Given the description of an element on the screen output the (x, y) to click on. 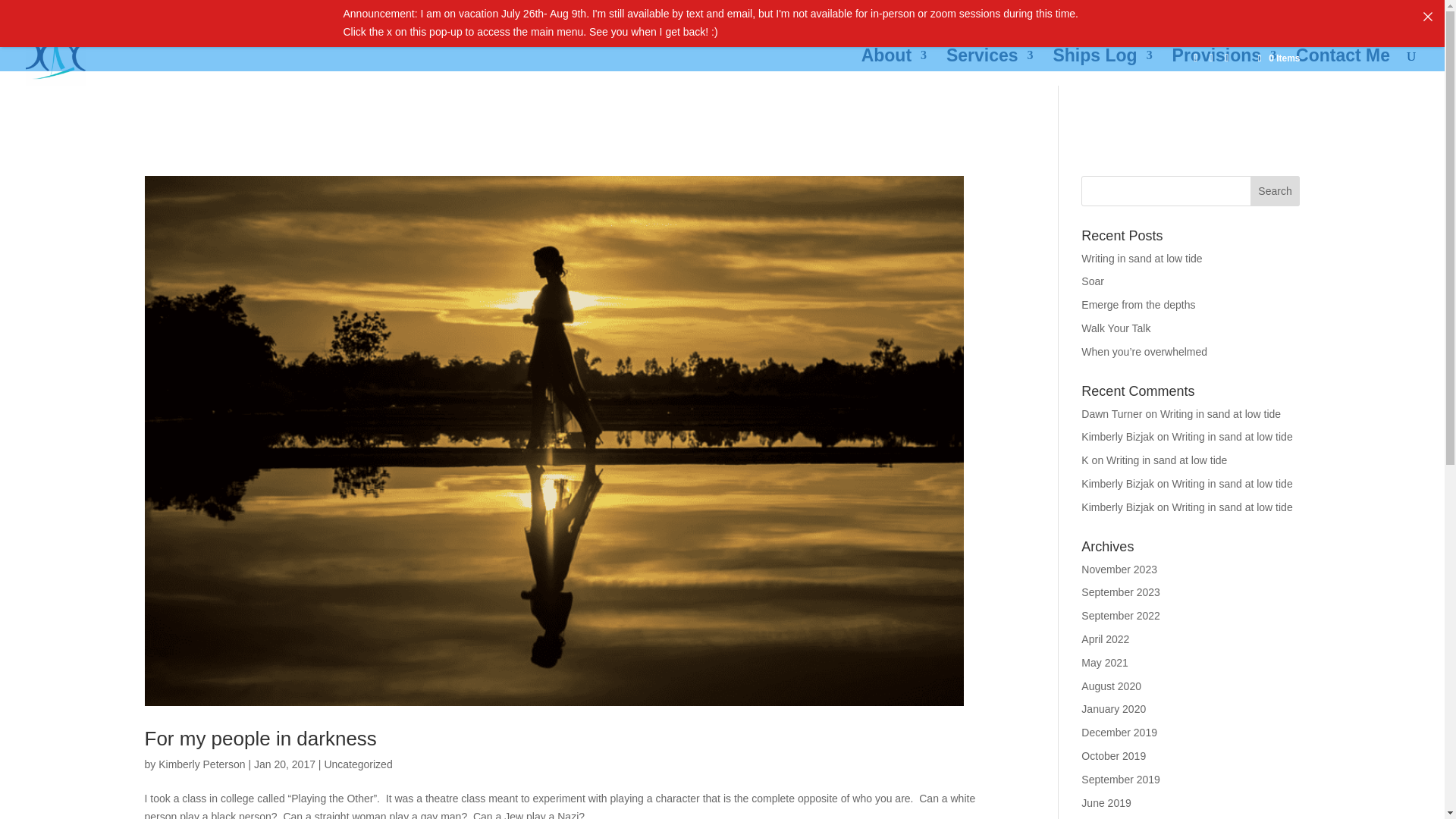
Search (1275, 191)
Close (1427, 15)
About (893, 67)
Ships Log (1101, 67)
Kimberly Peterson (201, 764)
For my people in darkness (259, 738)
Services (989, 67)
Provisions (1224, 67)
Contact Me (1342, 67)
0 Items (1277, 58)
Posts by Kimberly Peterson (201, 764)
